Given the description of an element on the screen output the (x, y) to click on. 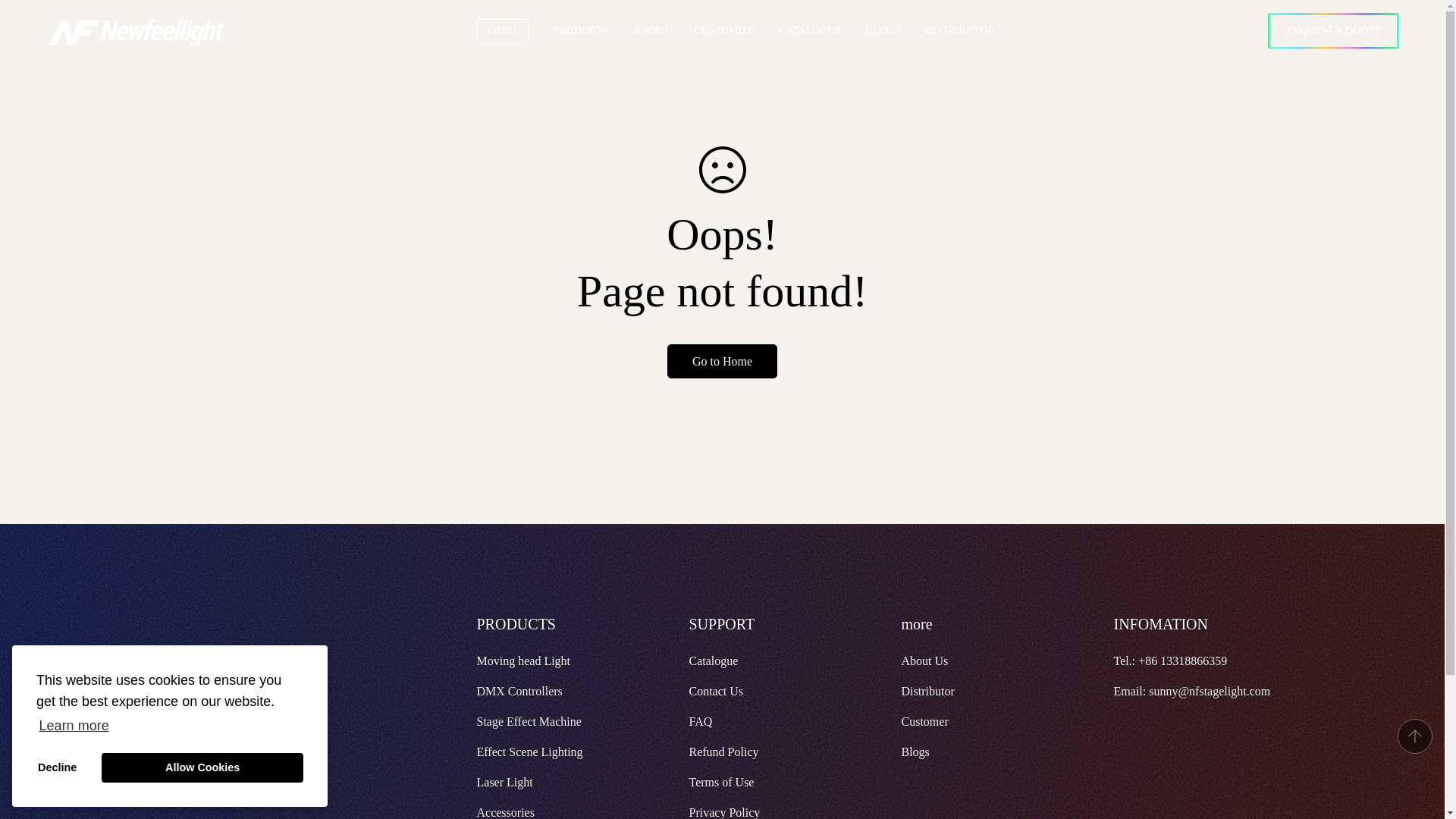
REQUEST A QUOTE (1333, 30)
Allow Cookies (201, 767)
CATALOGUE (822, 30)
STORE (514, 30)
DISTRIBUTOR (971, 30)
BLOGS (895, 30)
Learn more (74, 724)
CUSTOMIZE (736, 30)
ABOUT (663, 30)
Decline (57, 767)
PRODUCTS (580, 30)
